Given the description of an element on the screen output the (x, y) to click on. 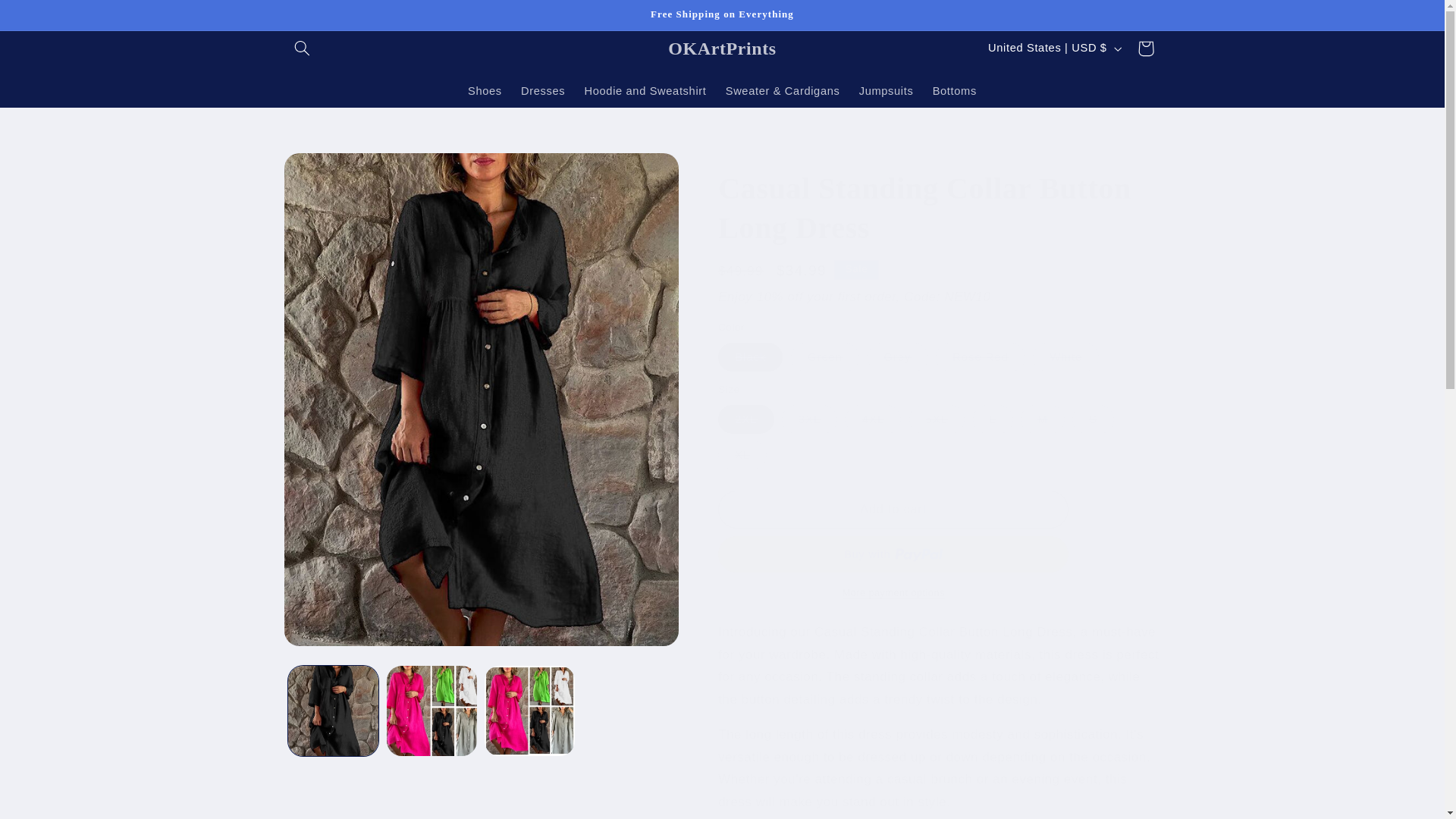
Cart (1145, 48)
Bottoms (954, 90)
